Given the description of an element on the screen output the (x, y) to click on. 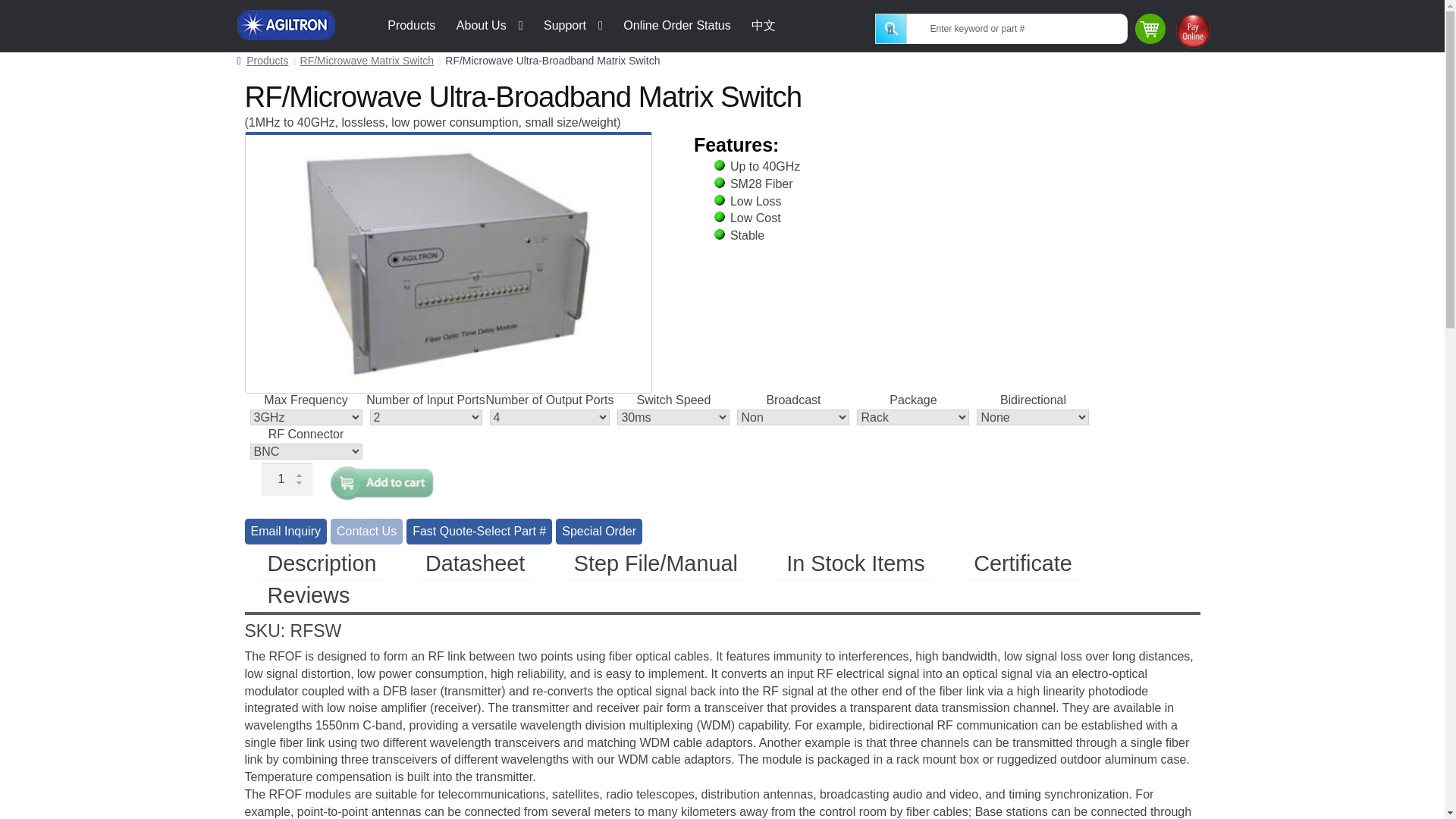
View your shopping cart (1151, 30)
Online Order Status (676, 25)
Products (411, 25)
Products (261, 60)
About Us (489, 25)
1 (286, 479)
Email Inquiry (287, 530)
Contact Us (366, 531)
Support (572, 25)
